Given the description of an element on the screen output the (x, y) to click on. 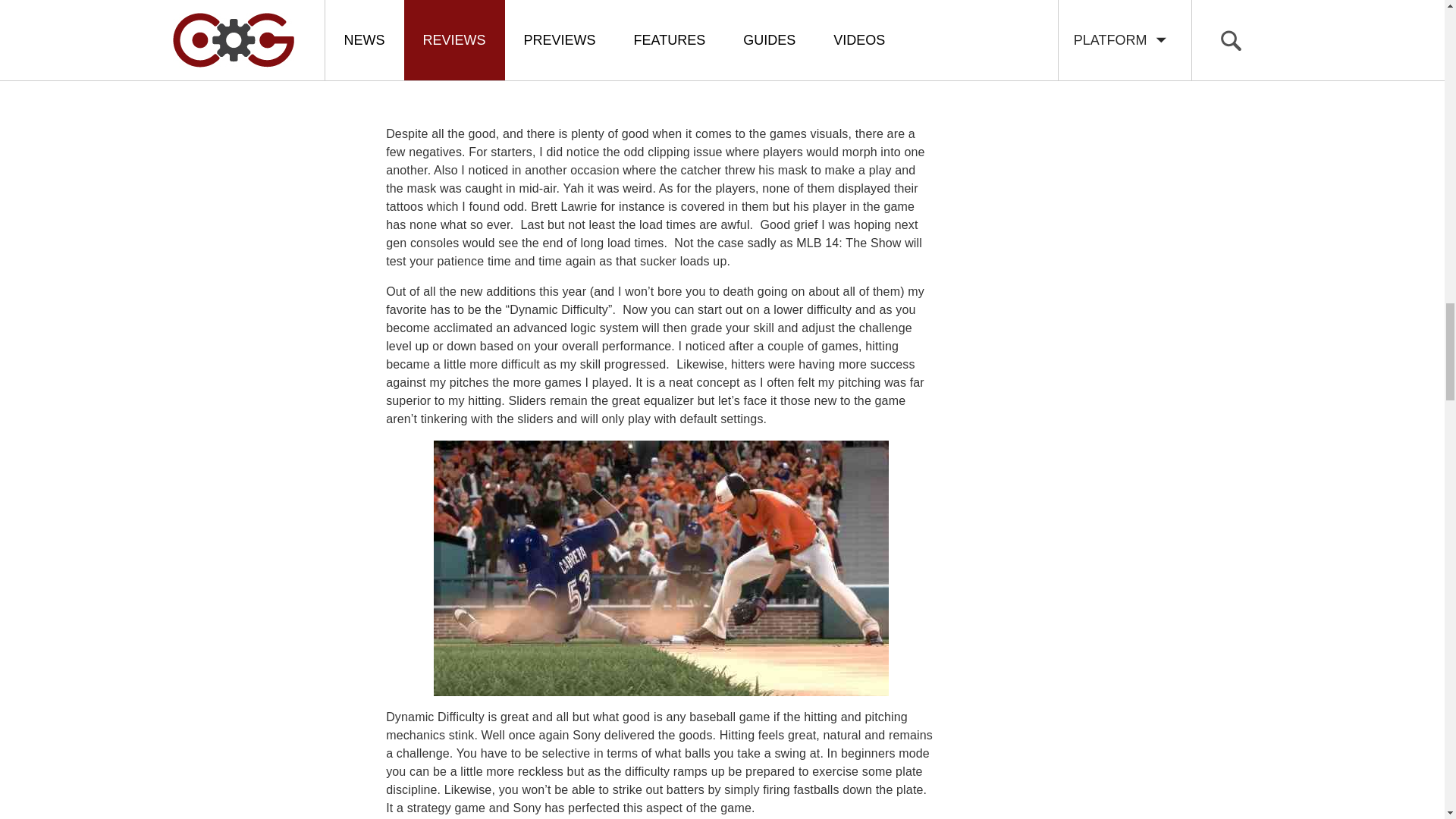
MLB06 (660, 568)
